Given the description of an element on the screen output the (x, y) to click on. 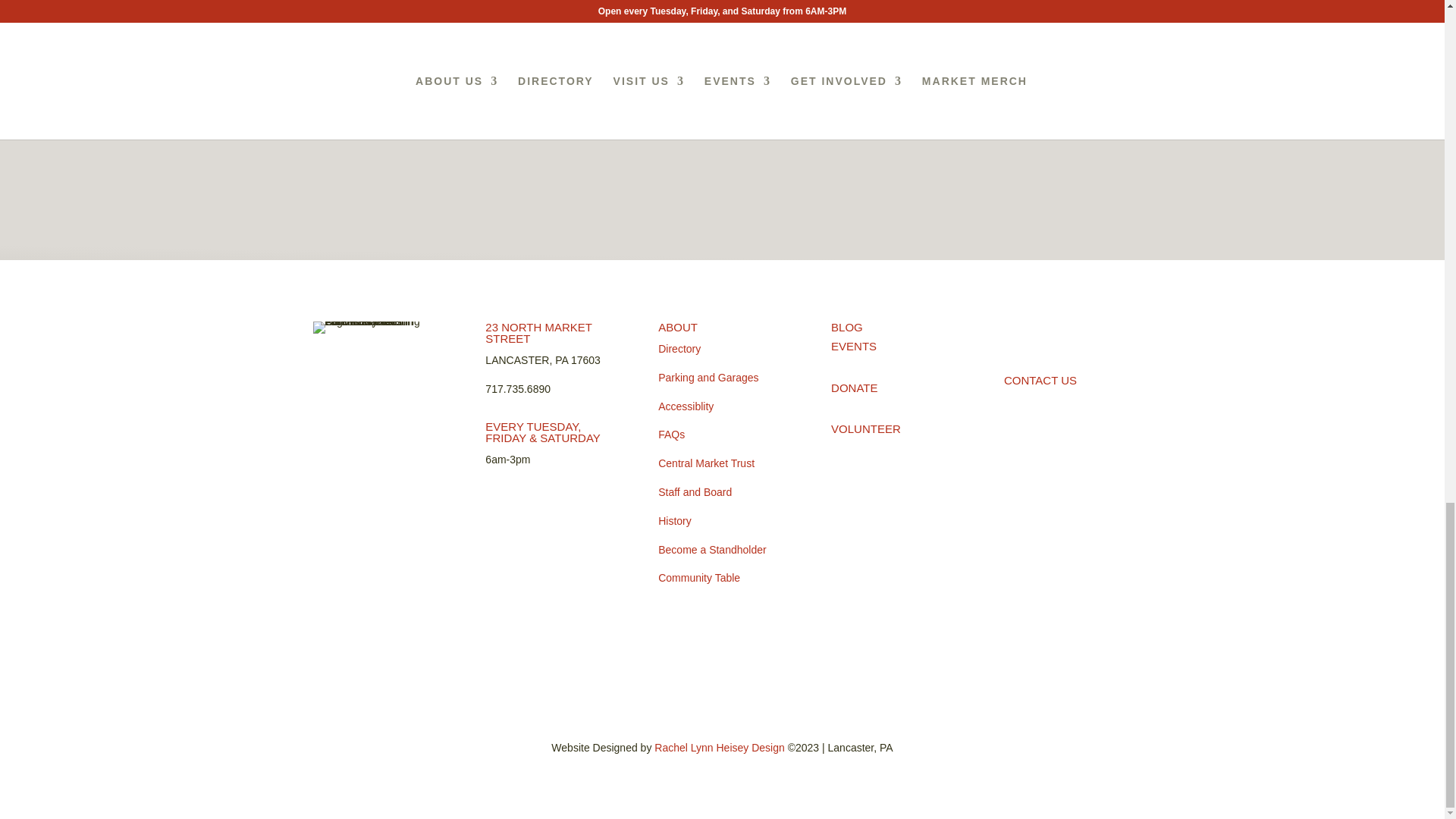
Follow on TikTok (1076, 333)
Lancaster Central Market - Logo - White (376, 327)
Follow on Facebook (1015, 333)
Staff and Board (695, 491)
Follow on Instagram (1045, 333)
Parking and Garages (708, 377)
Submit Comment (840, 2)
Submit Comment (840, 2)
Accessiblity (685, 406)
FAQs (671, 434)
